Given the description of an element on the screen output the (x, y) to click on. 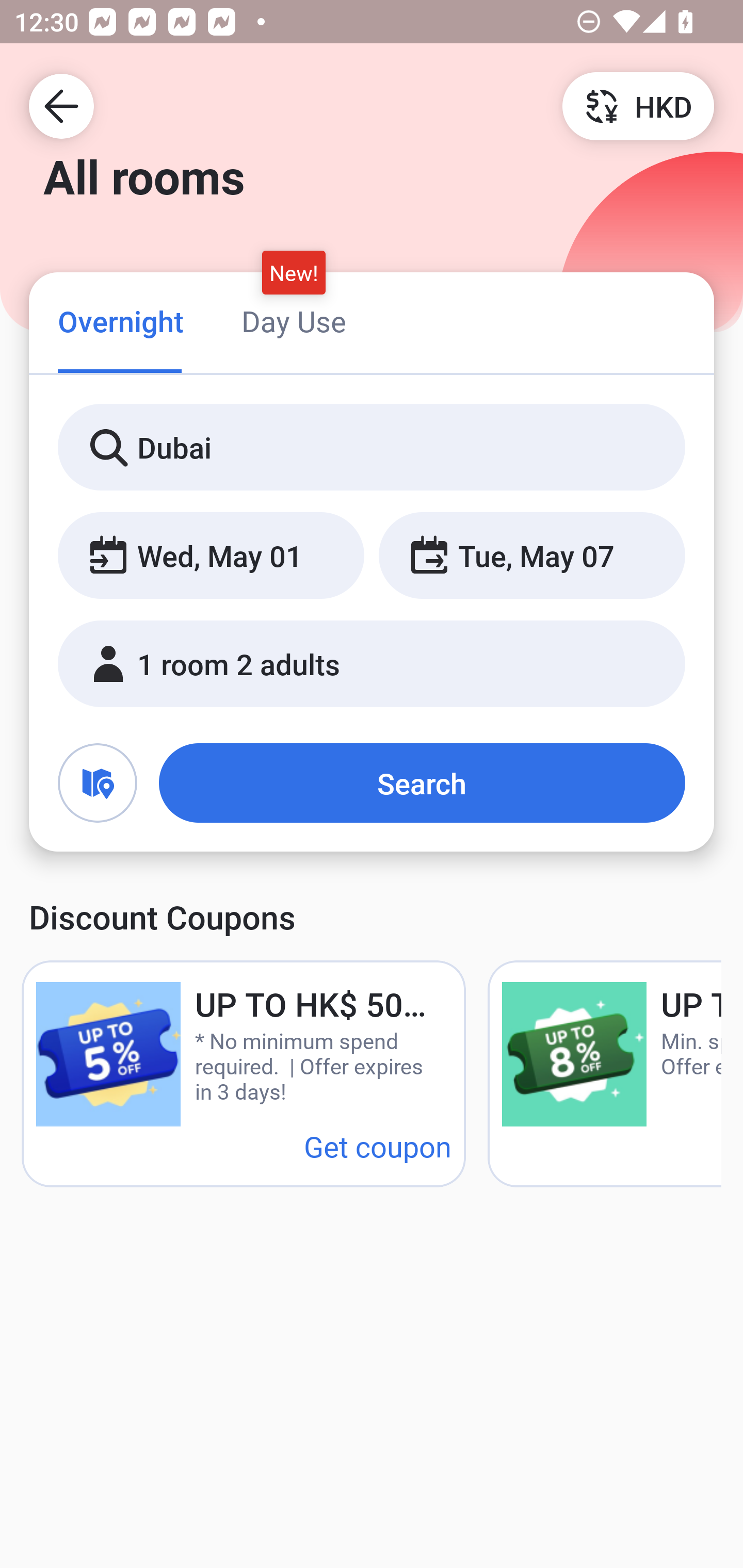
HKD (638, 105)
New! (294, 272)
Day Use (293, 321)
Dubai (371, 447)
Wed, May 01 (210, 555)
Tue, May 07 (531, 555)
1 room 2 adults (371, 663)
Search (422, 783)
Get coupon (377, 1146)
